Given the description of an element on the screen output the (x, y) to click on. 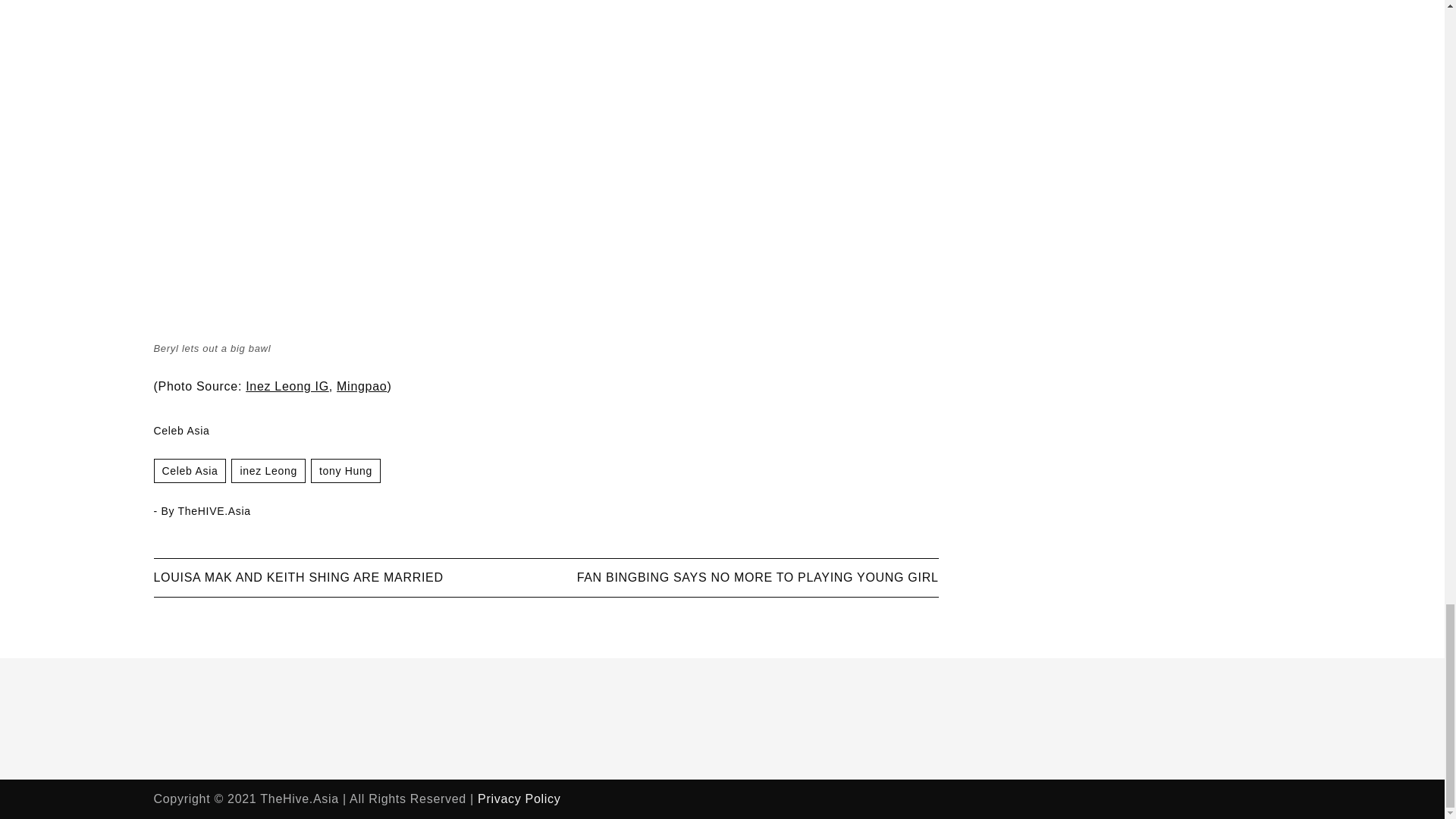
TheHIVE.Asia (213, 510)
LOUISA MAK AND KEITH SHING ARE MARRIED (297, 576)
Celeb Asia (180, 430)
Inez Leong (268, 470)
Tony Hung (345, 470)
Inez Leong IG (287, 386)
FAN BINGBING SAYS NO MORE TO PLAYING YOUNG GIRL (757, 576)
Celeb Asia (188, 470)
Mingpao (361, 386)
